Given the description of an element on the screen output the (x, y) to click on. 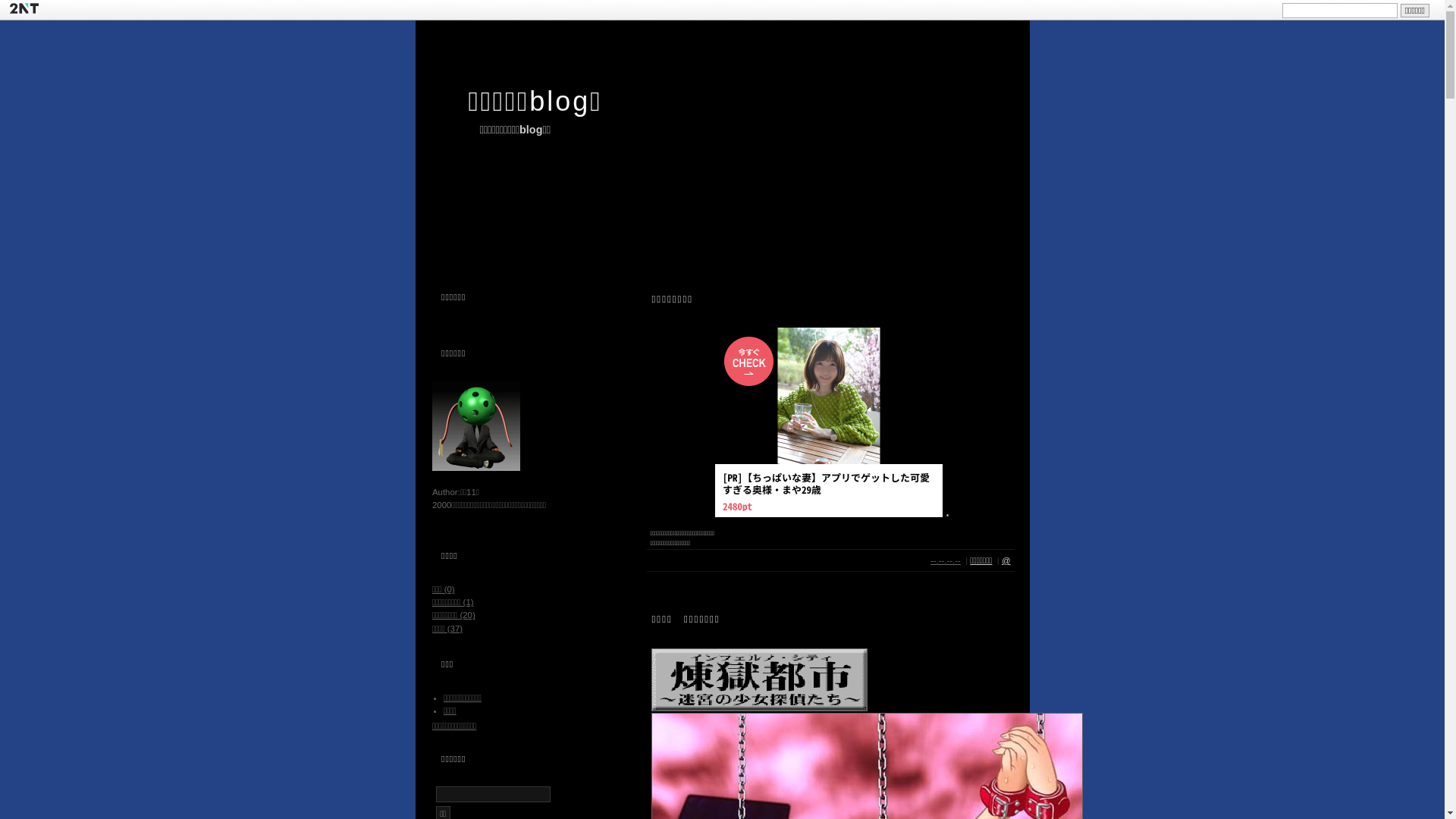
@ Element type: text (1005, 560)
--.--.--.-- Element type: text (945, 560)
